Given the description of an element on the screen output the (x, y) to click on. 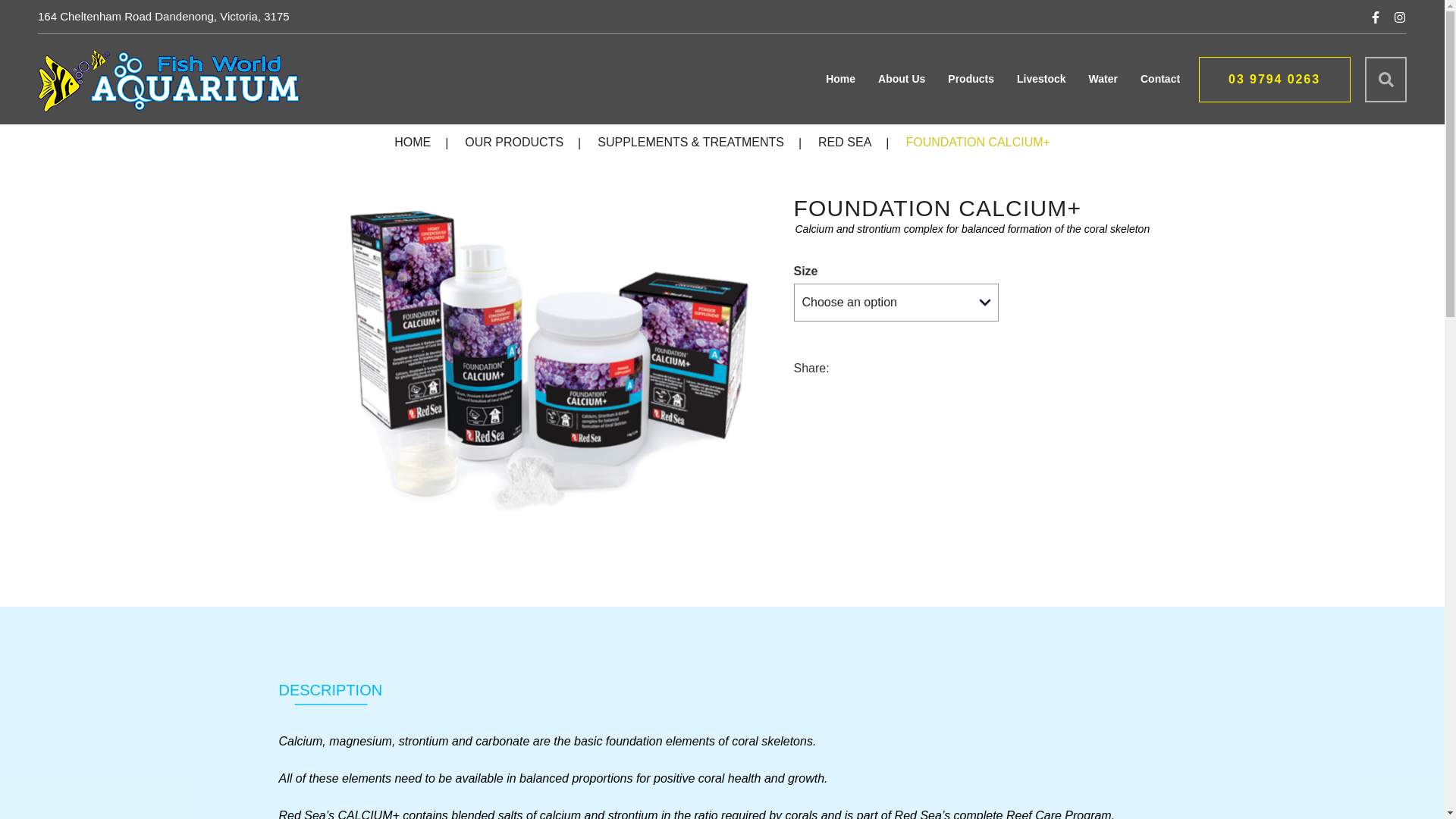
03 9794 0263 Element type: text (1274, 78)
Water Element type: text (1102, 78)
foundation-A-powder-500ml-ready-for-labels Element type: hover (548, 359)
Home Element type: text (840, 78)
RED SEA Element type: text (844, 141)
About Us Element type: text (901, 78)
Products Element type: text (970, 78)
Livestock Element type: text (1041, 78)
HOME Element type: text (412, 141)
Search Element type: hover (1385, 78)
Fish World Aquarium Element type: hover (168, 80)
SUPPLEMENTS & TREATMENTS Element type: text (690, 141)
OUR PRODUCTS Element type: text (513, 141)
Contact Element type: text (1159, 78)
Facebook Element type: hover (1379, 15)
Instagram Element type: hover (1399, 15)
